Given the description of an element on the screen output the (x, y) to click on. 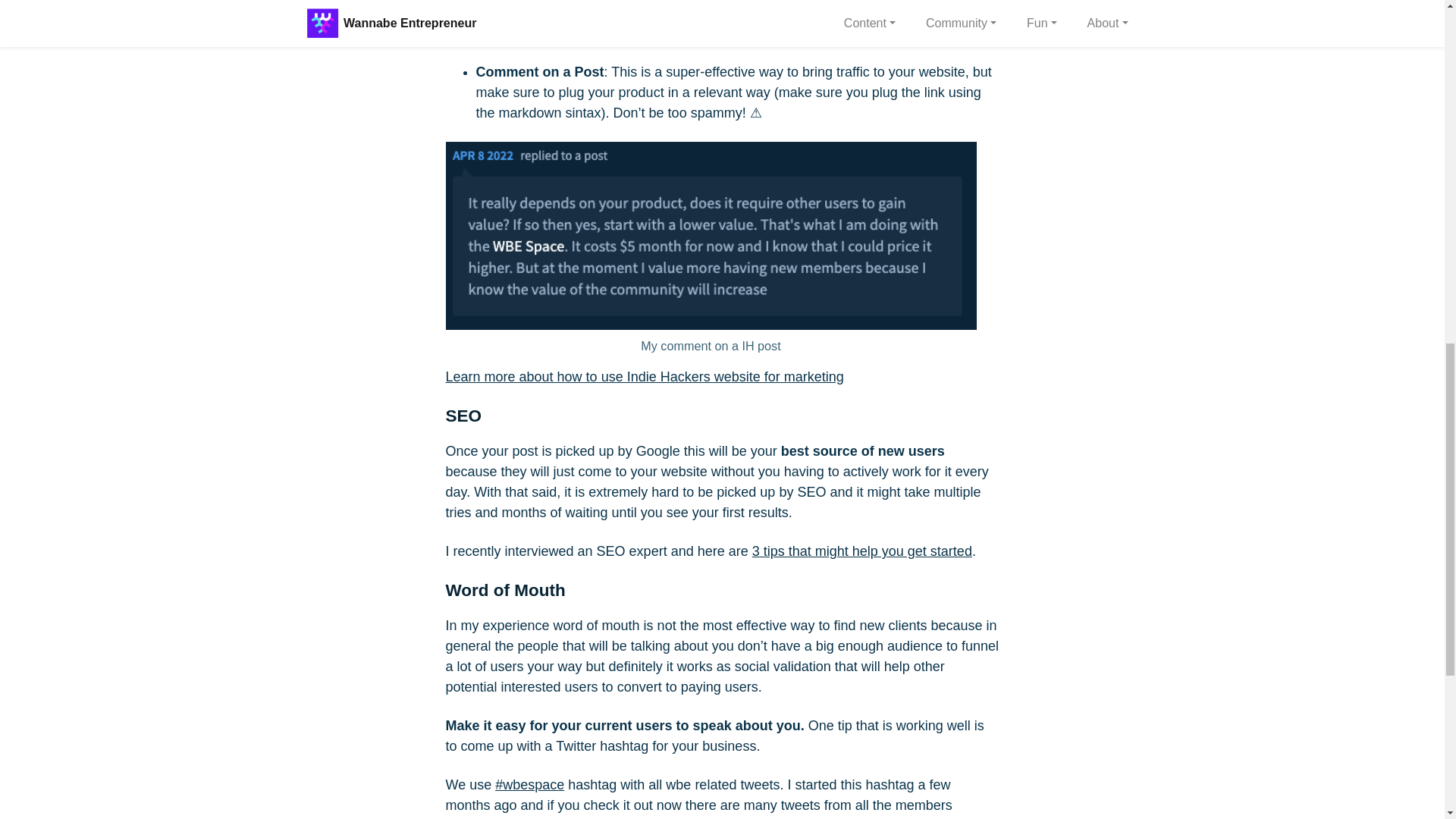
3 tips that might help you get started (862, 550)
